Given the description of an element on the screen output the (x, y) to click on. 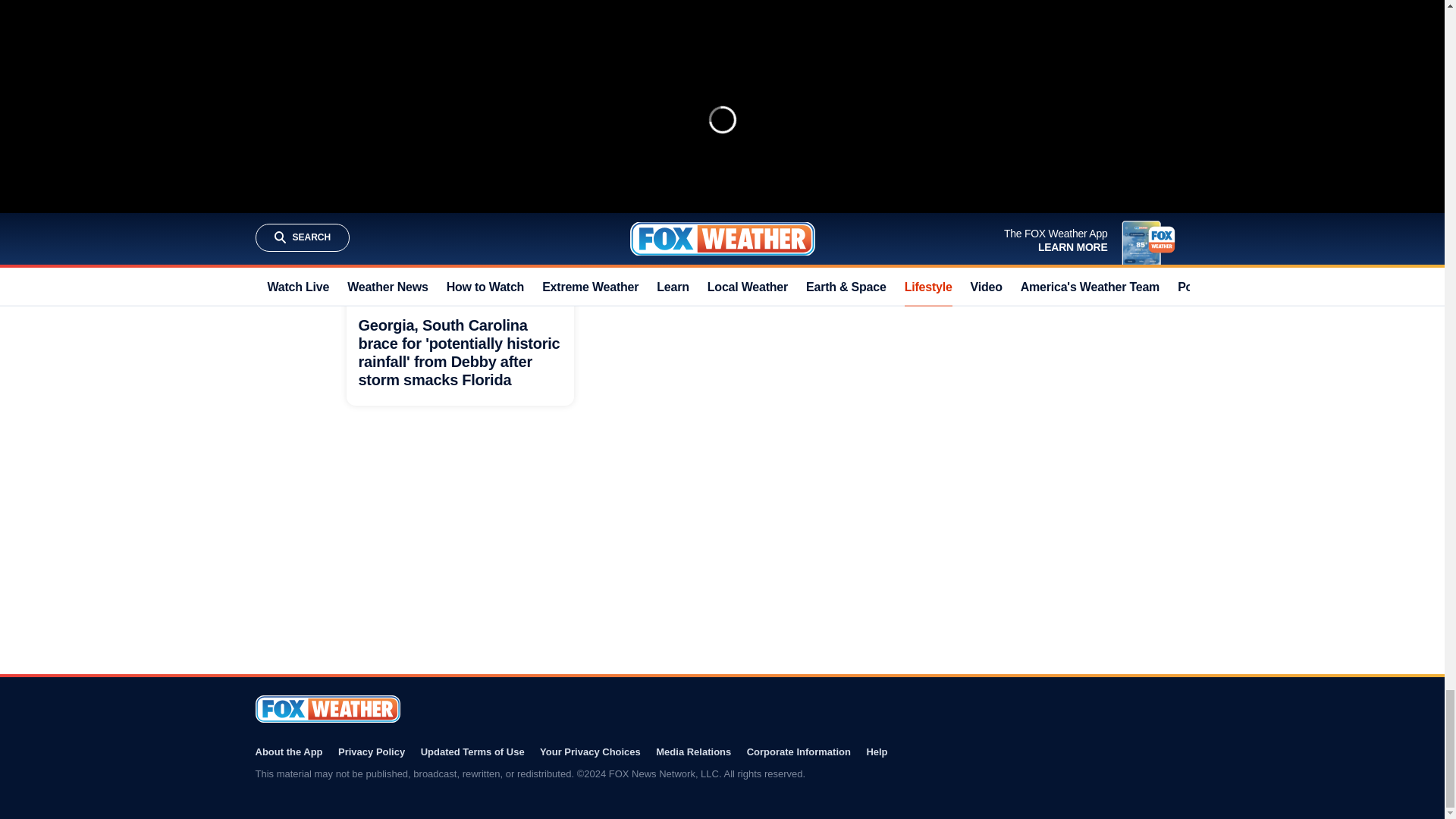
AARP website (875, 181)
FAMILY (677, 222)
HOME (634, 222)
HOW TO WATCH FOX WEATHER (695, 117)
